Given the description of an element on the screen output the (x, y) to click on. 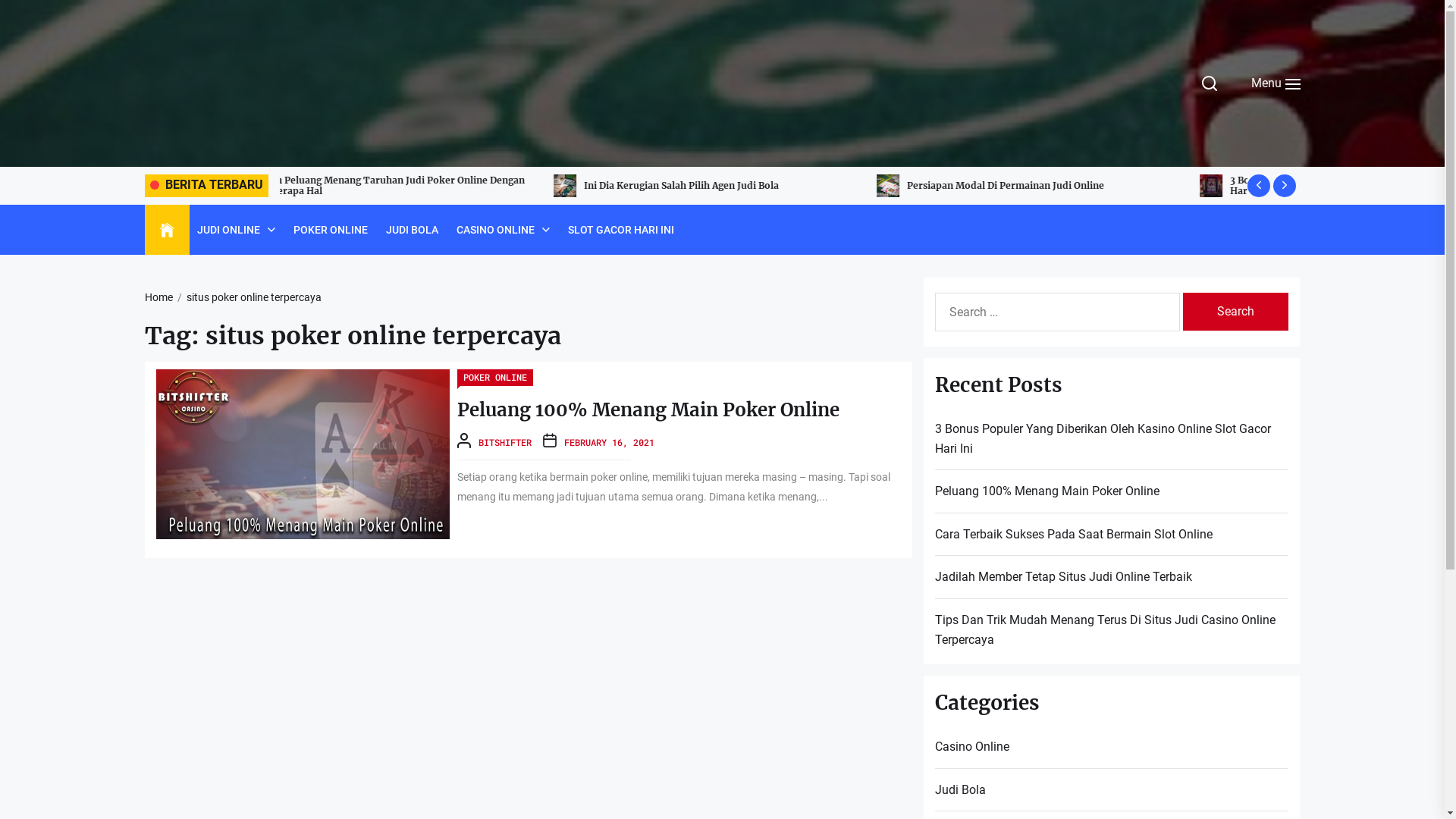
Ini Dia Kerugian Salah Pilih Agen Judi Bola Element type: hover (613, 185)
Menu Element type: text (1272, 83)
Jadilah Member Tetap Situs Judi Online Terbaik Element type: text (1066, 576)
BITSHIFTER Element type: text (504, 442)
JUDI BOLA Element type: text (411, 229)
POKER ONLINE Element type: text (495, 377)
CASINO ONLINE Element type: text (495, 229)
Cara Terbaik Sukses Pada Saat Bermain Slot Online Element type: text (1076, 534)
FEBRUARY 16, 2021 Element type: text (609, 442)
situs poker online terpercaya Element type: text (246, 297)
Ini Dia Kerugian Salah Pilih Agen Judi Bola Element type: text (1053, 185)
Peluang 100% Menang Main Poker Online Element type: text (648, 409)
POKER ONLINE Element type: text (329, 229)
Peluang 100% Menang Main Poker Online Element type: text (1049, 491)
Judi Bola Element type: text (963, 790)
Home Element type: text (158, 297)
Search Element type: text (1236, 311)
Persiapan Modal Di Permainan Judi Online Element type: hover (936, 185)
Home Element type: hover (166, 230)
Casino Online Element type: text (974, 746)
JUDI ONLINE Element type: text (228, 229)
SLOT GACOR HARI INI Element type: text (620, 229)
